Given the description of an element on the screen output the (x, y) to click on. 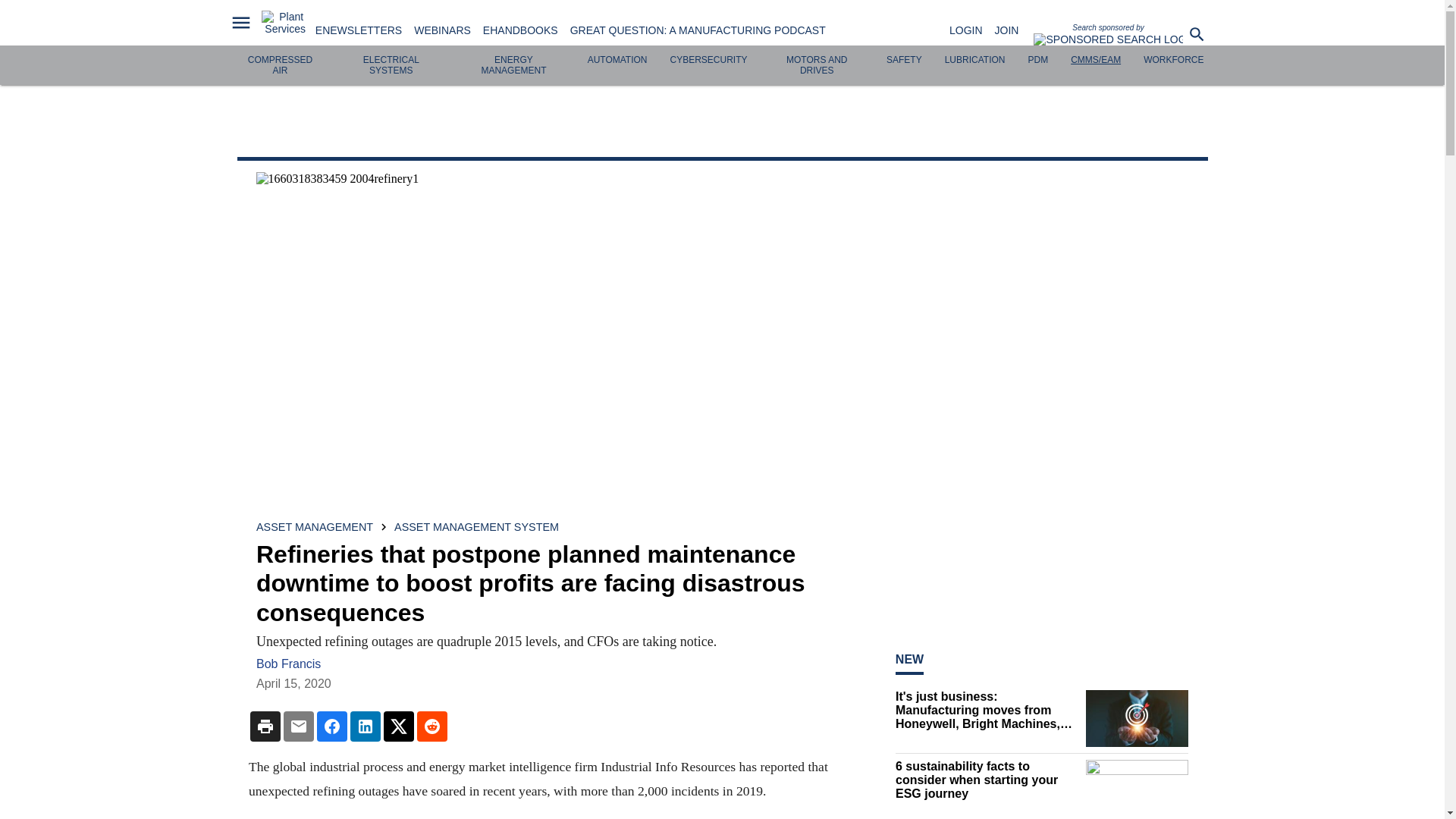
AUTOMATION (617, 59)
COMPRESSED AIR (280, 65)
JOIN (1006, 30)
ENEWSLETTERS (358, 30)
SAFETY (903, 59)
LUBRICATION (975, 59)
MOTORS AND DRIVES (816, 65)
LOGIN (965, 30)
EHANDBOOKS (520, 30)
GREAT QUESTION: A MANUFACTURING PODCAST (697, 30)
